Given the description of an element on the screen output the (x, y) to click on. 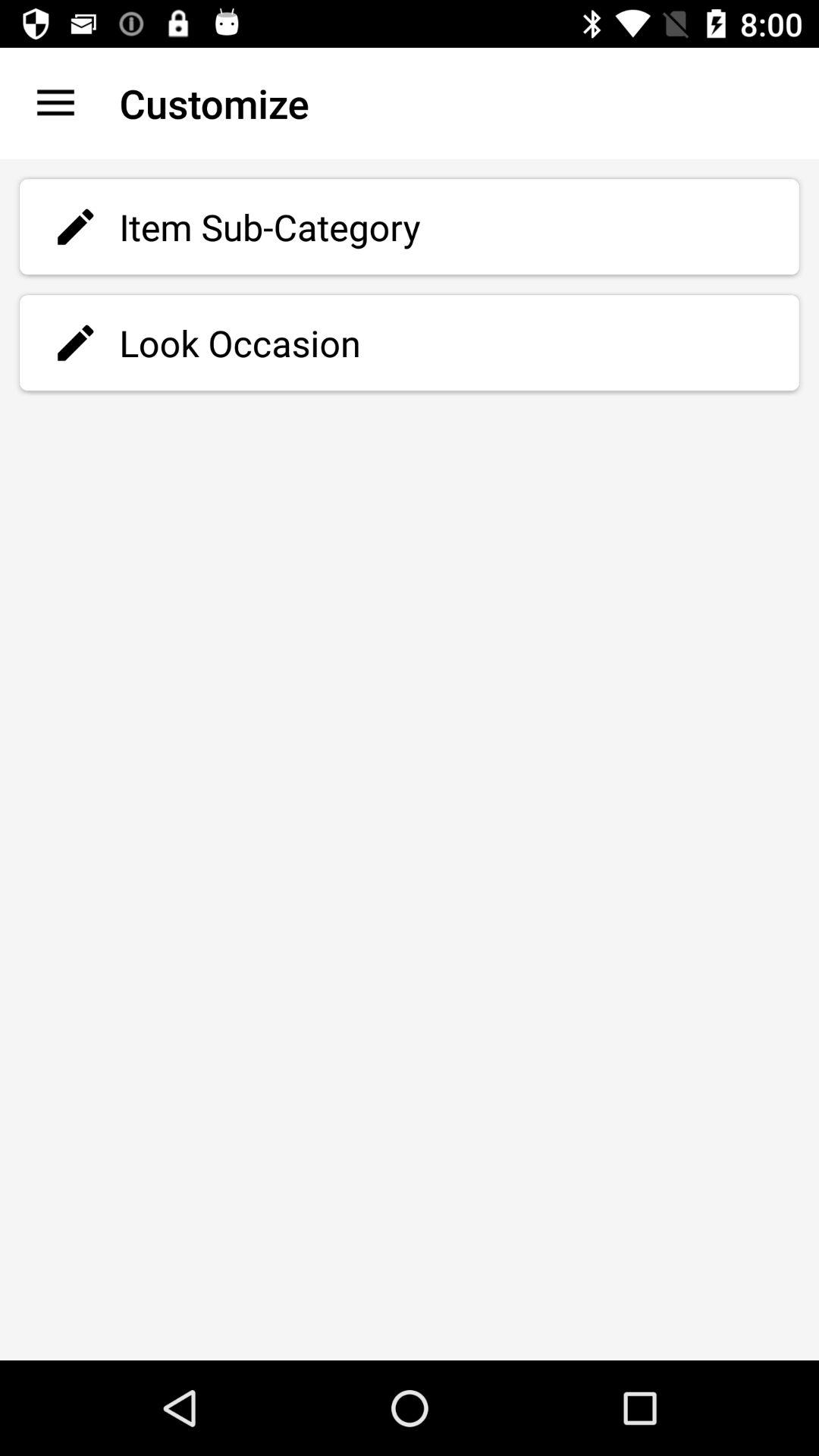
launch icon next to the customize icon (55, 103)
